Given the description of an element on the screen output the (x, y) to click on. 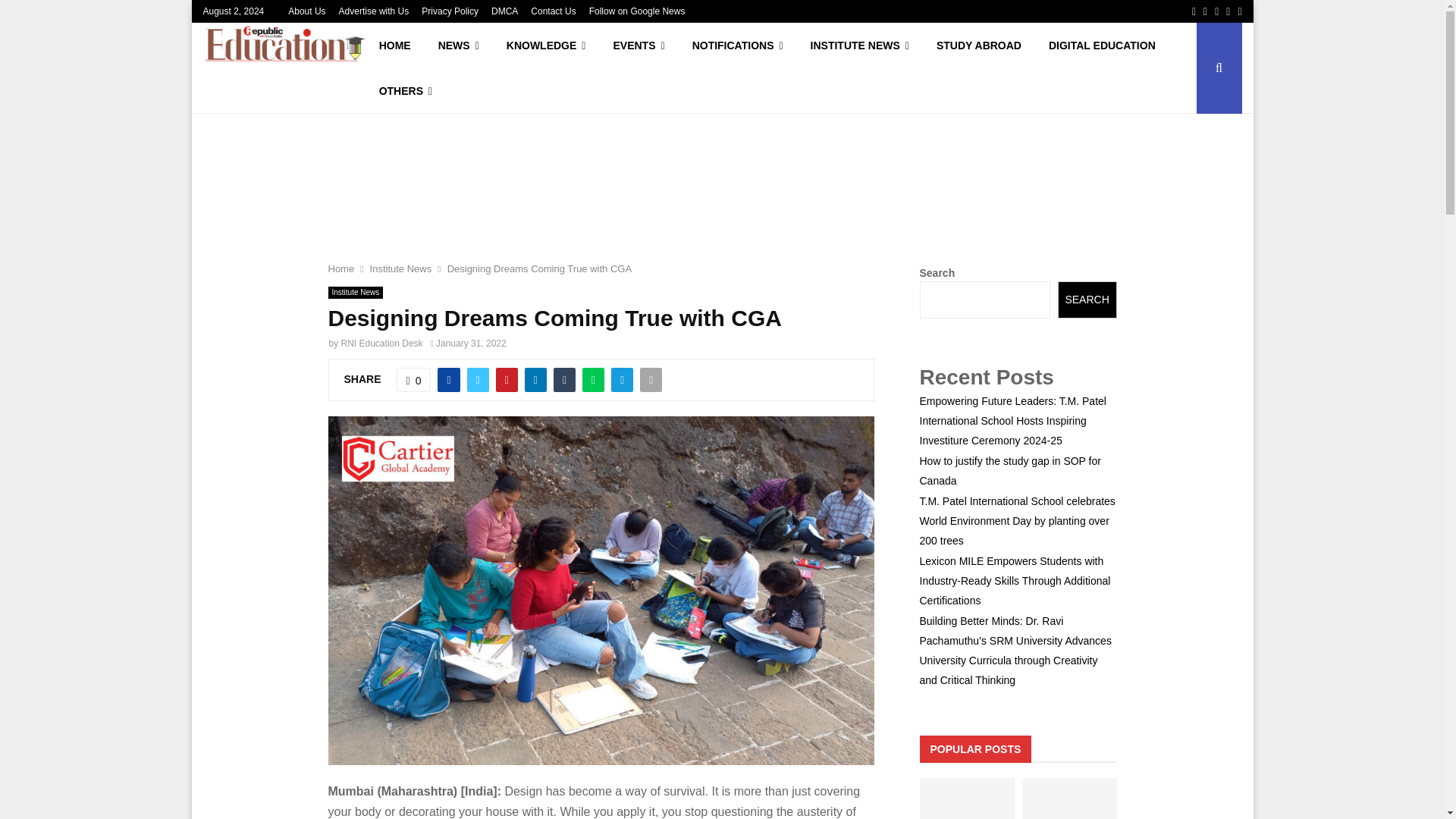
KNOWLEDGE (546, 44)
Privacy Policy (450, 11)
Contact Us (553, 11)
EVENTS (638, 44)
Follow on Google News (637, 11)
Like (413, 379)
About Us (306, 11)
DIGITAL EDUCATION (1102, 44)
NEWS (459, 44)
Advertise with Us (374, 11)
INSTITUTE NEWS (859, 44)
NOTIFICATIONS (737, 44)
HOME (395, 44)
STUDY ABROAD (979, 44)
DMCA (505, 11)
